Given the description of an element on the screen output the (x, y) to click on. 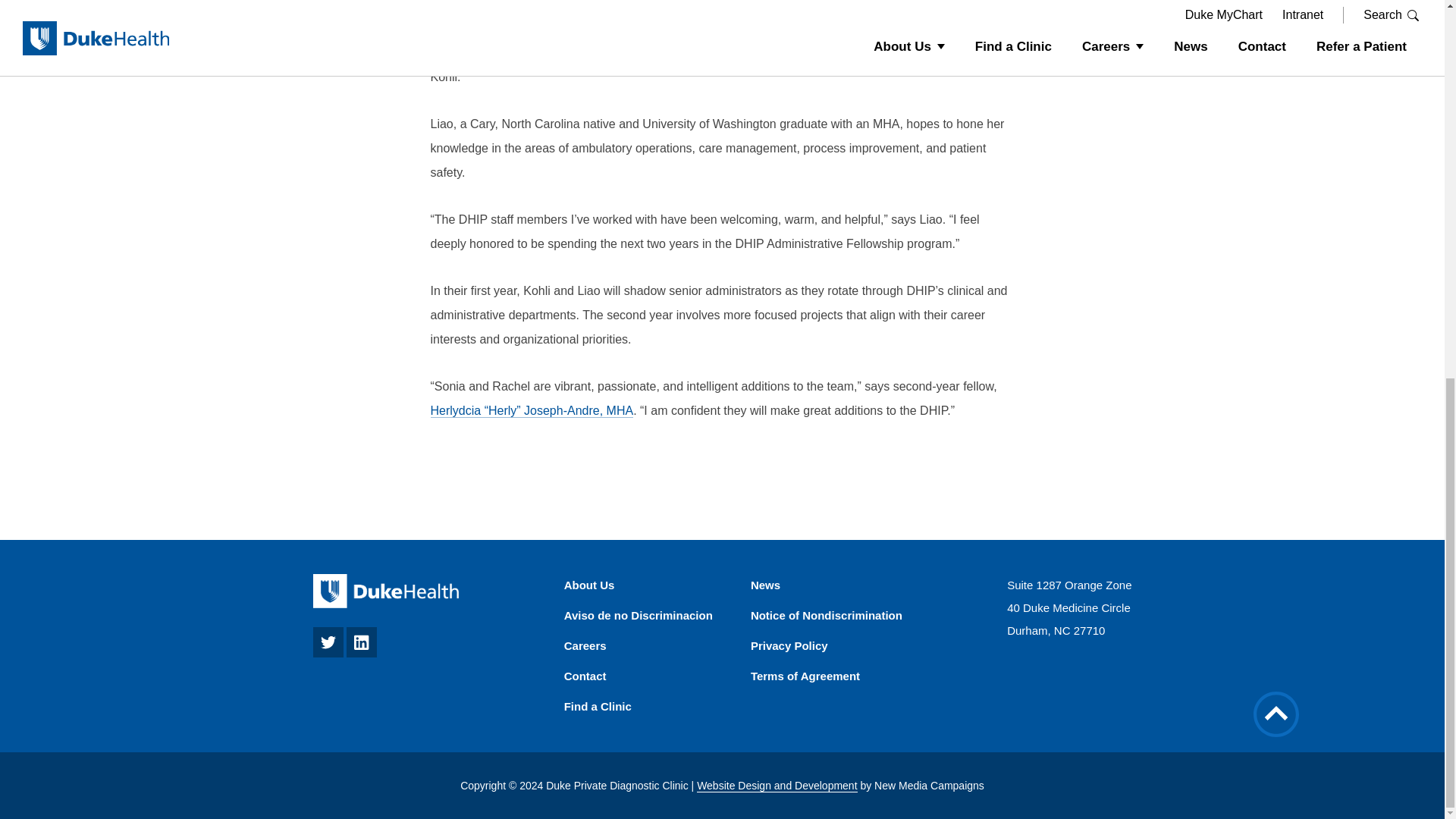
twitter (327, 642)
Careers (585, 645)
Contact (585, 675)
News (765, 584)
About Us (589, 584)
Find a Clinic (597, 706)
Aviso de no Discriminacion (638, 615)
twitter (327, 653)
